Given the description of an element on the screen output the (x, y) to click on. 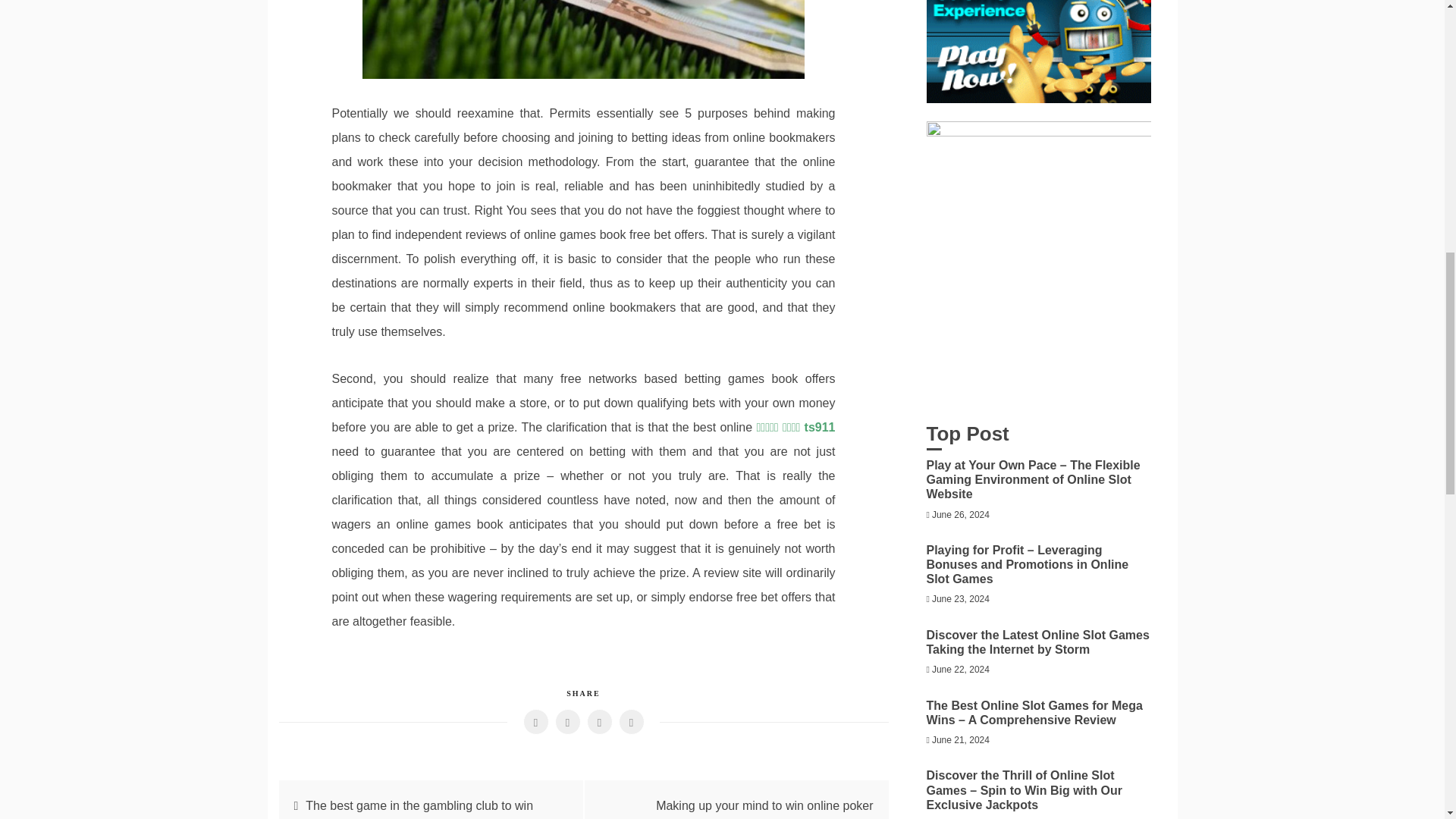
June 23, 2024 (960, 598)
June 26, 2024 (960, 514)
The best game in the gambling club to win money easily (414, 809)
Making up your mind to win online poker tournaments (764, 809)
